Given the description of an element on the screen output the (x, y) to click on. 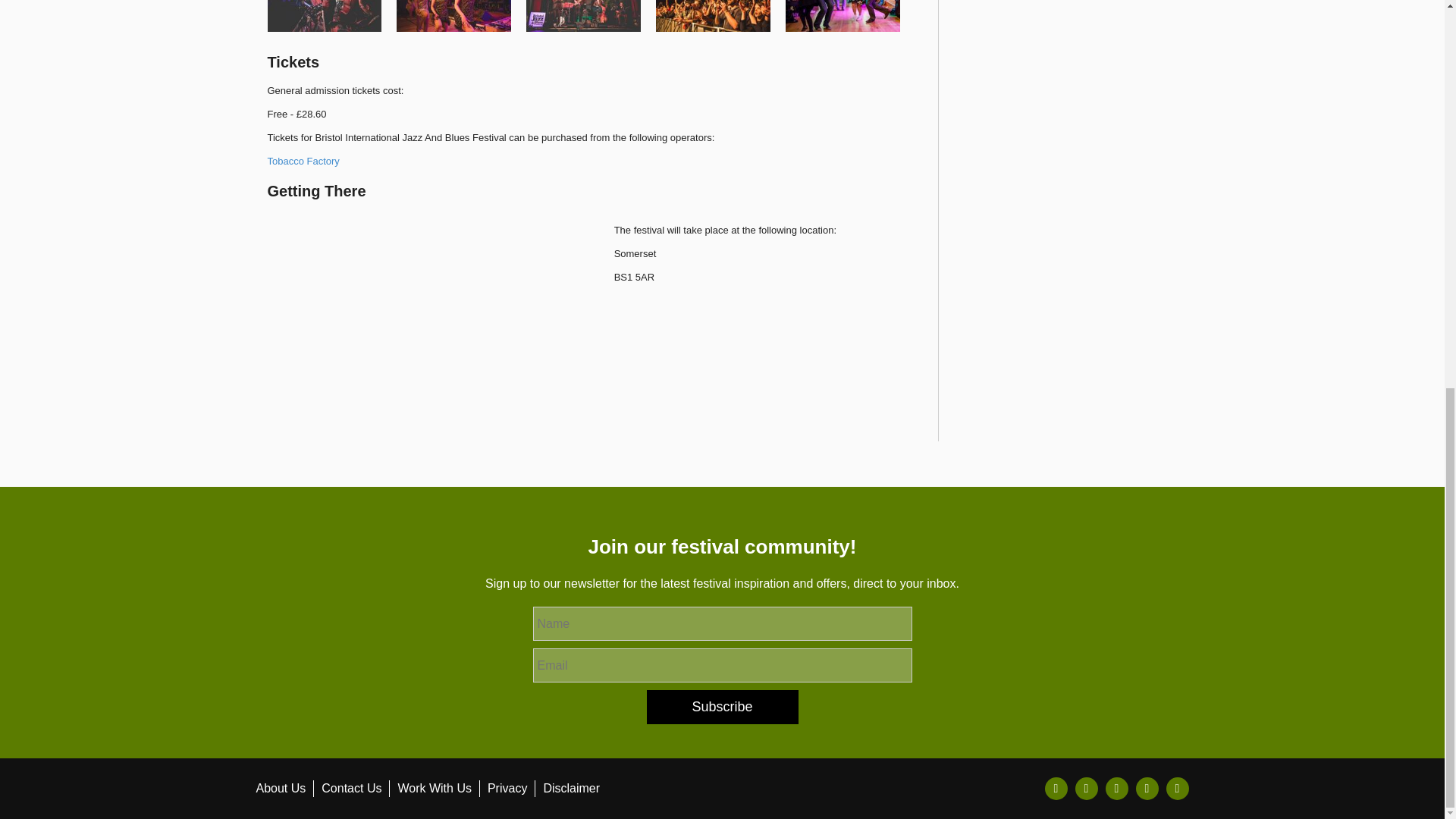
Subscribe (721, 706)
About Us (280, 788)
Contact Us (351, 788)
Tobacco Factory (302, 161)
Privacy (507, 788)
Work With Us (433, 788)
Disclaimer (571, 788)
Subscribe (721, 706)
